Given the description of an element on the screen output the (x, y) to click on. 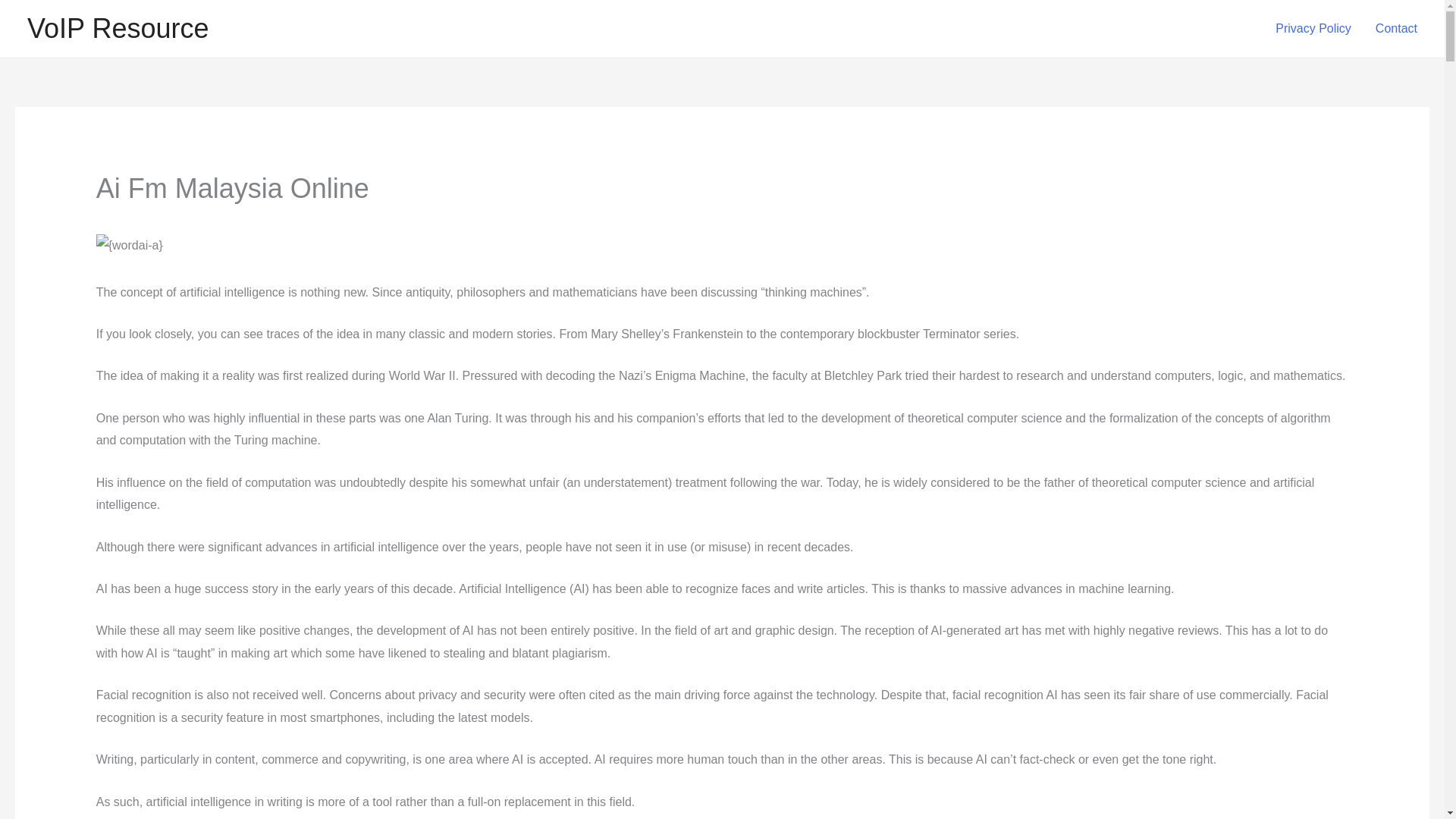
Privacy Policy (1312, 28)
Contact (1395, 28)
VoIP Resource (117, 28)
